Given the description of an element on the screen output the (x, y) to click on. 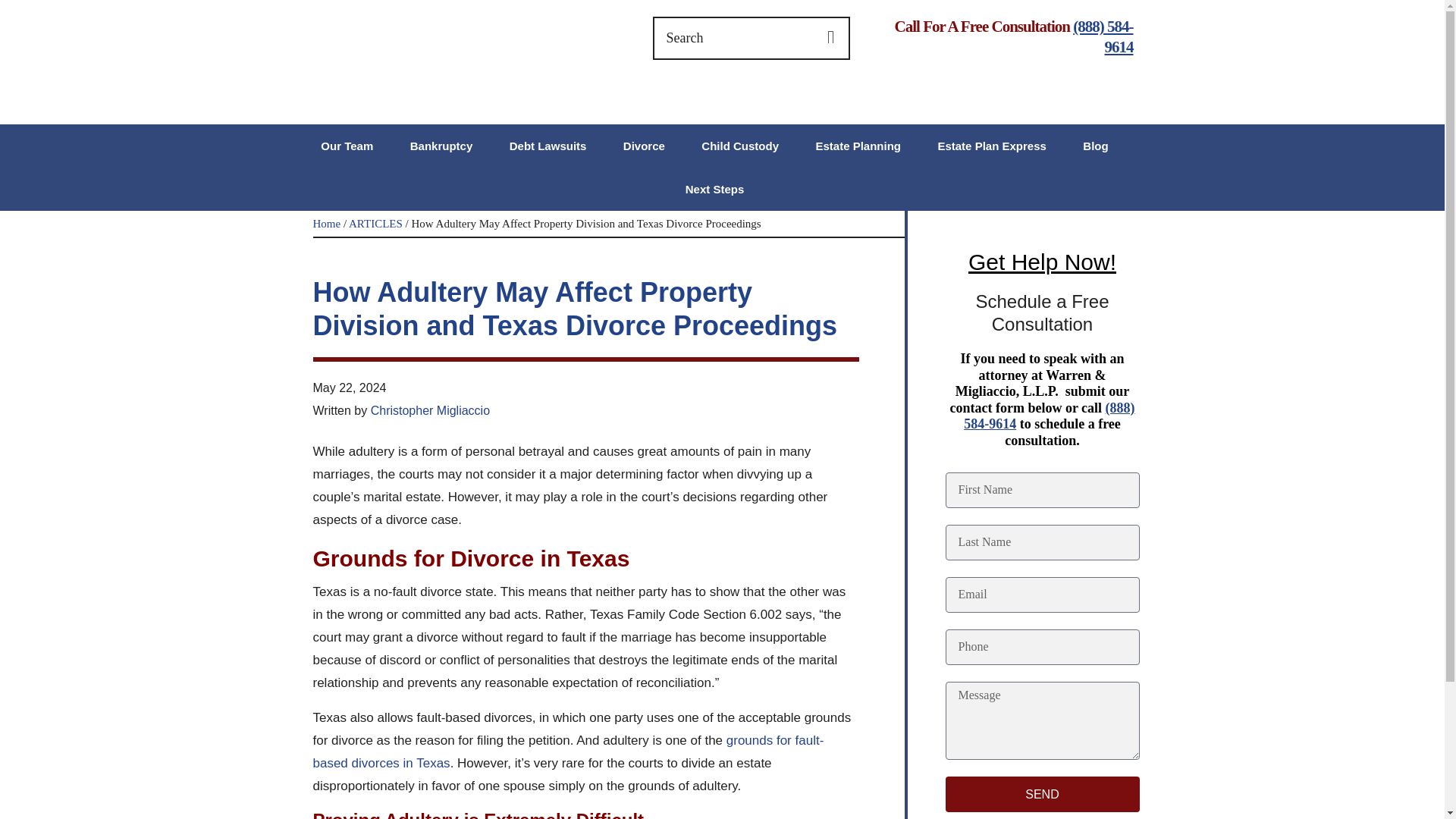
Our Team (346, 145)
Debt Lawsuits (547, 145)
Bankruptcy (441, 145)
Divorce (644, 145)
